Given the description of an element on the screen output the (x, y) to click on. 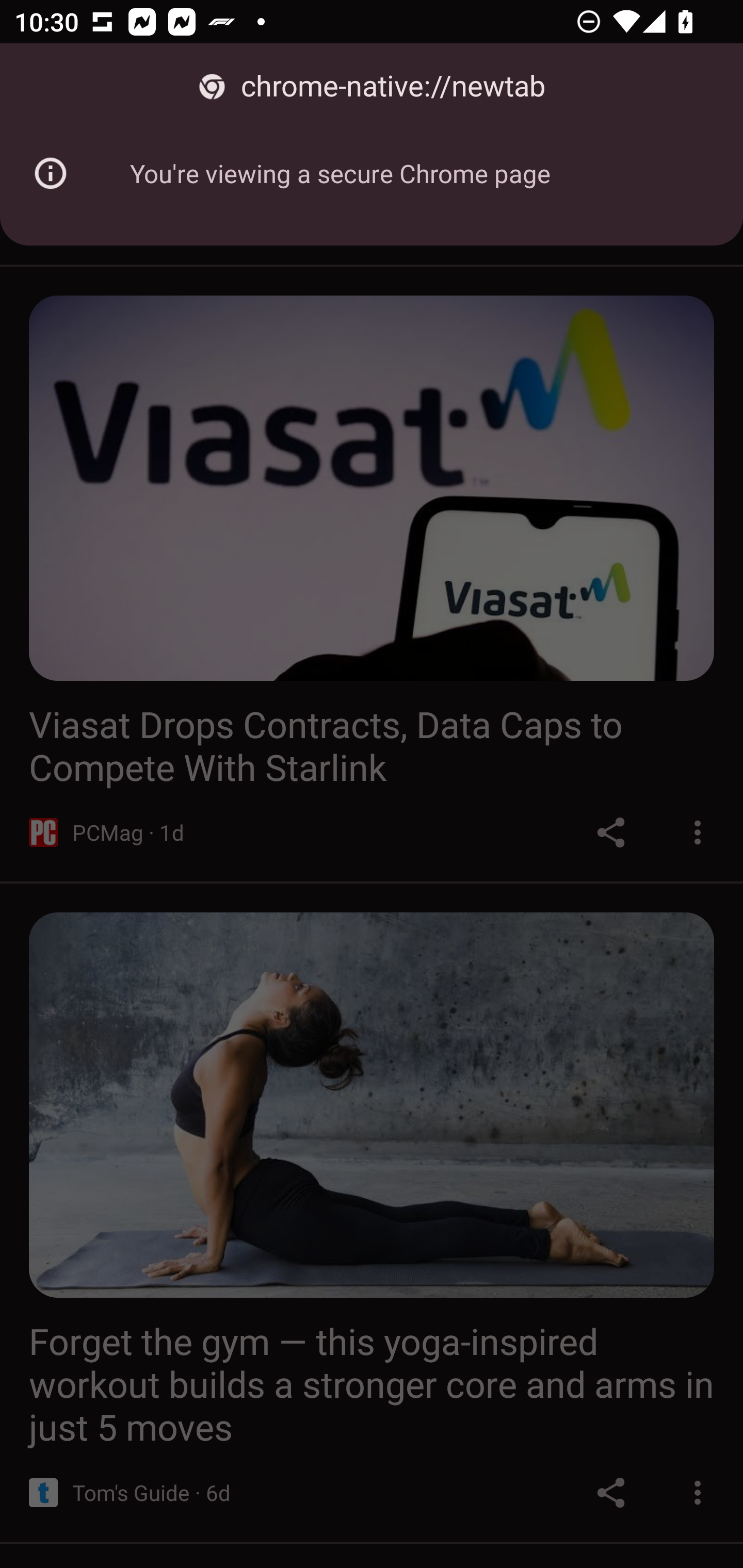
chrome-native://newtab (371, 86)
